Given the description of an element on the screen output the (x, y) to click on. 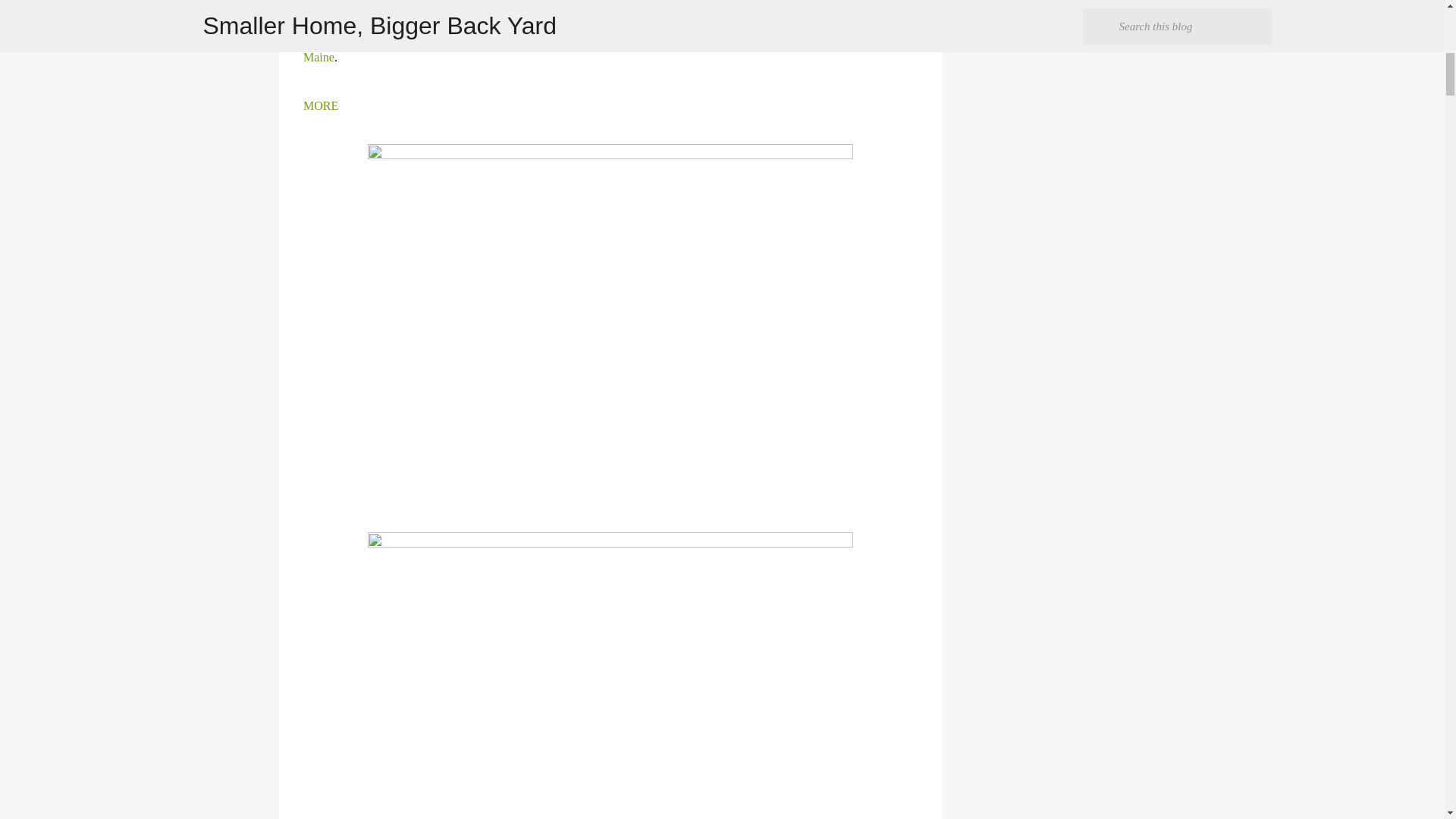
Wild River (768, 8)
Merrymeeting Bay (786, 32)
Bath, Maine (603, 44)
MORE (319, 105)
Kennebec River (686, 32)
Androscoggin River (369, 32)
